Given the description of an element on the screen output the (x, y) to click on. 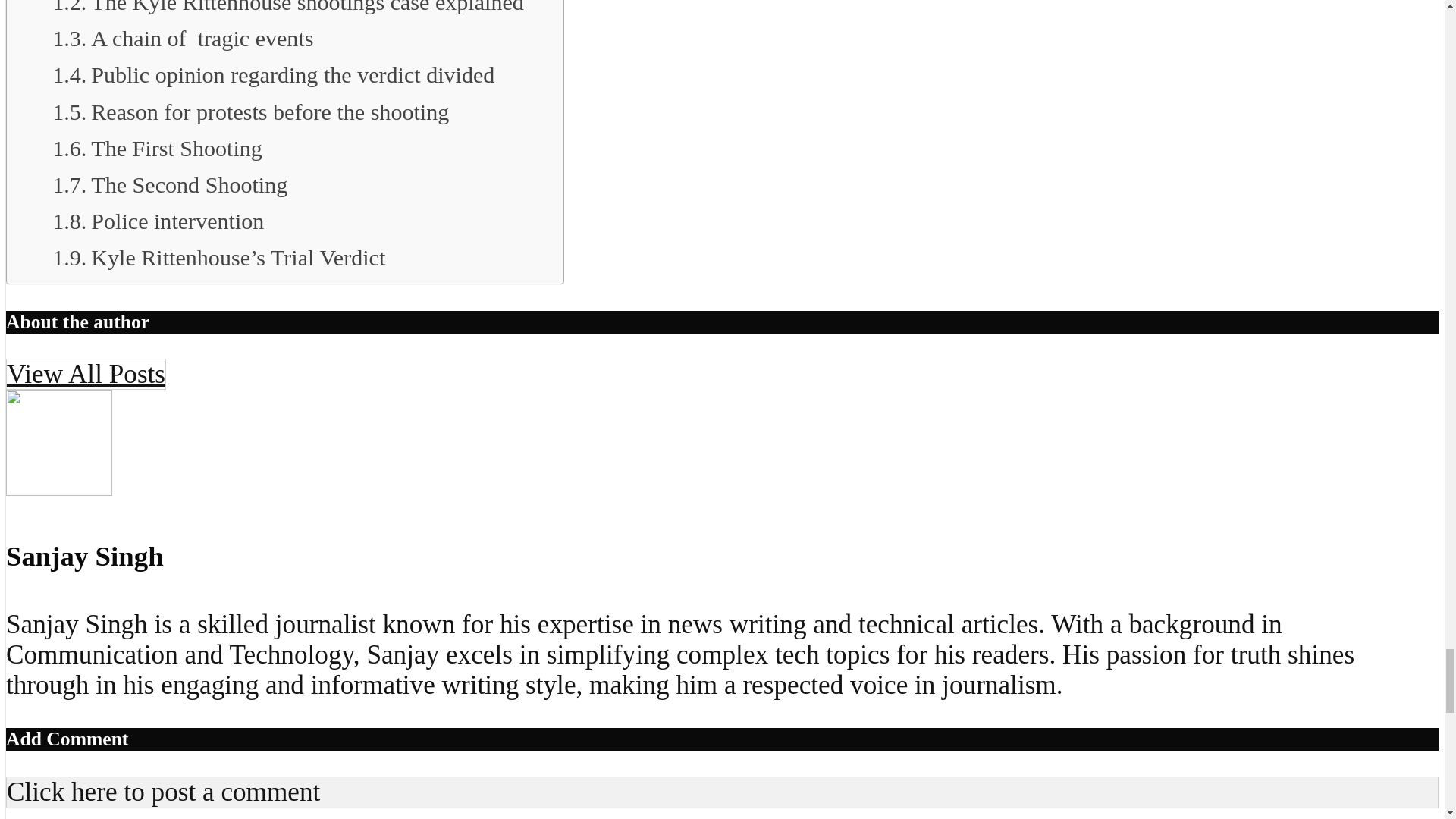
Reason for protests before the shooting (250, 112)
Public opinion regarding the verdict divided (273, 74)
The First Shooting (157, 148)
The Kyle Rittenhouse shootings case explained (288, 10)
The Second Shooting (169, 185)
Police intervention (157, 221)
